Given the description of an element on the screen output the (x, y) to click on. 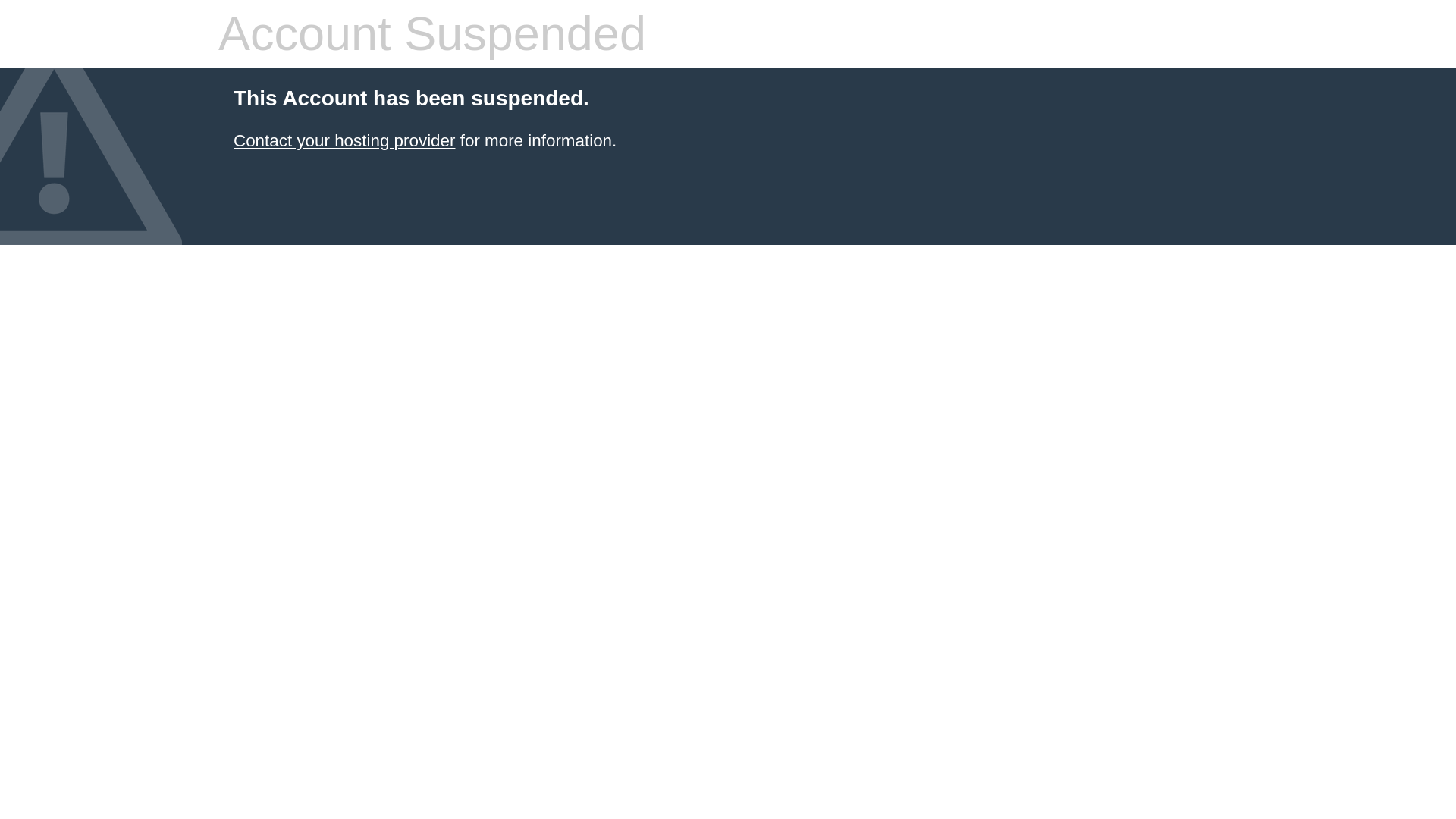
Contact your hosting provider (343, 140)
